Given the description of an element on the screen output the (x, y) to click on. 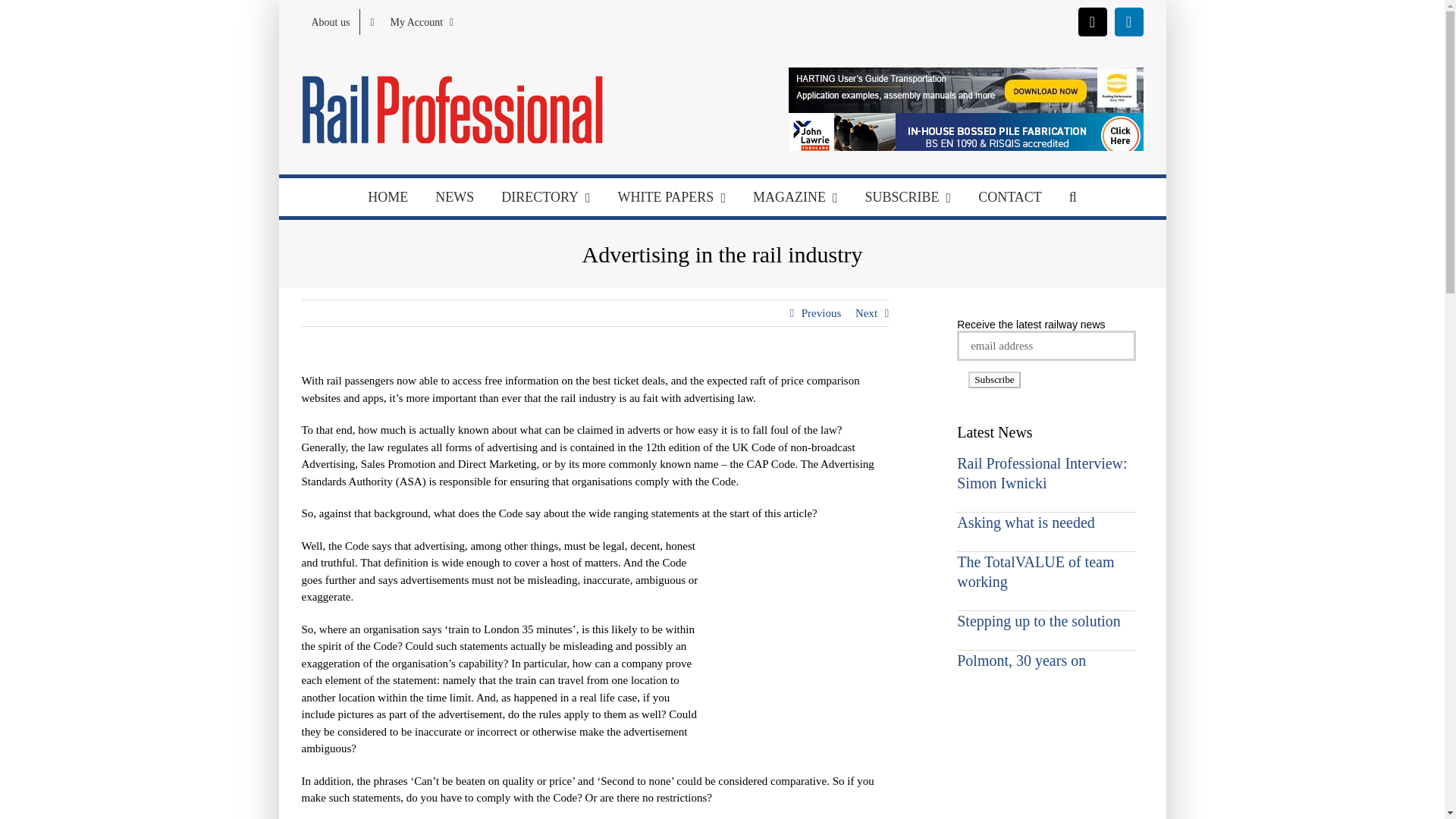
Subscribe (994, 379)
X (1092, 21)
LinkedIn (1128, 21)
WHITE PAPERS (671, 197)
About us (330, 22)
Search (1072, 197)
CONTACT (1009, 197)
LinkedIn (1128, 21)
X (1092, 21)
DIRECTORY (545, 197)
